Given the description of an element on the screen output the (x, y) to click on. 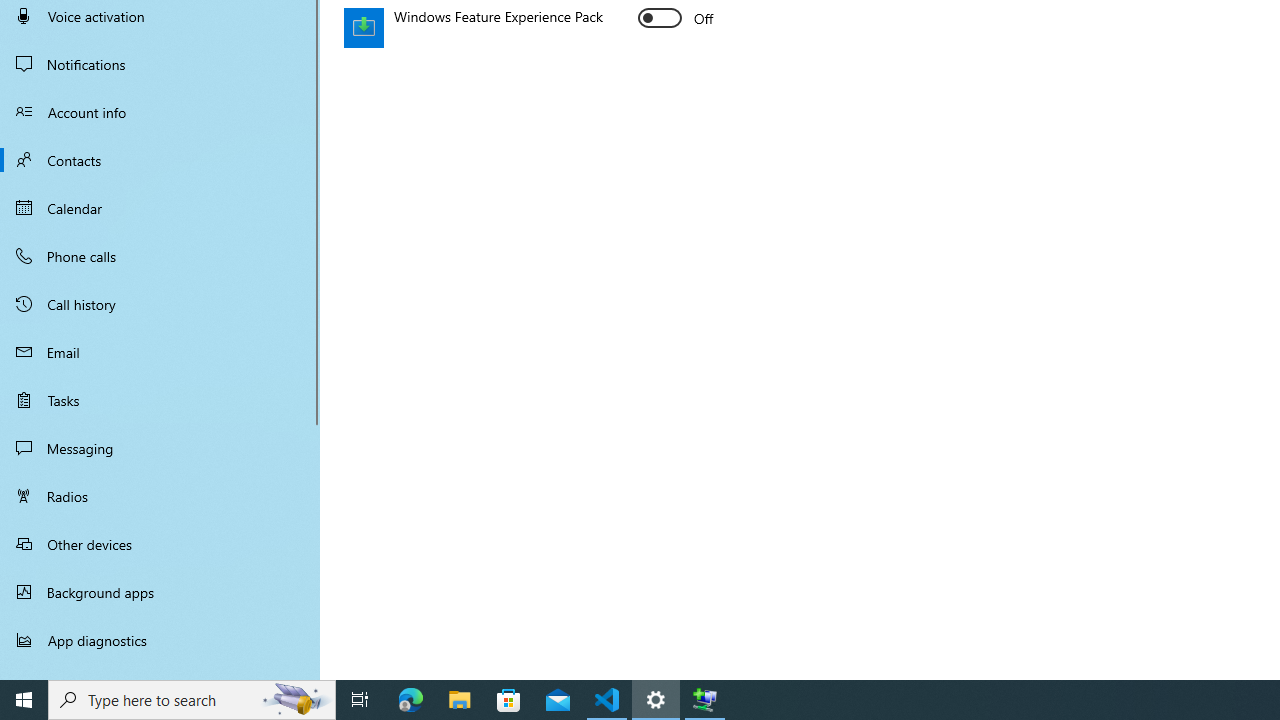
App diagnostics (160, 639)
Account info (160, 111)
Tasks (160, 399)
Search highlights icon opens search home window (295, 699)
Microsoft Edge (411, 699)
Windows Feature Experience Pack (675, 17)
File Explorer (460, 699)
Automatic file downloads (160, 671)
Calendar (160, 207)
Type here to search (191, 699)
Settings - 1 running window (656, 699)
